Given the description of an element on the screen output the (x, y) to click on. 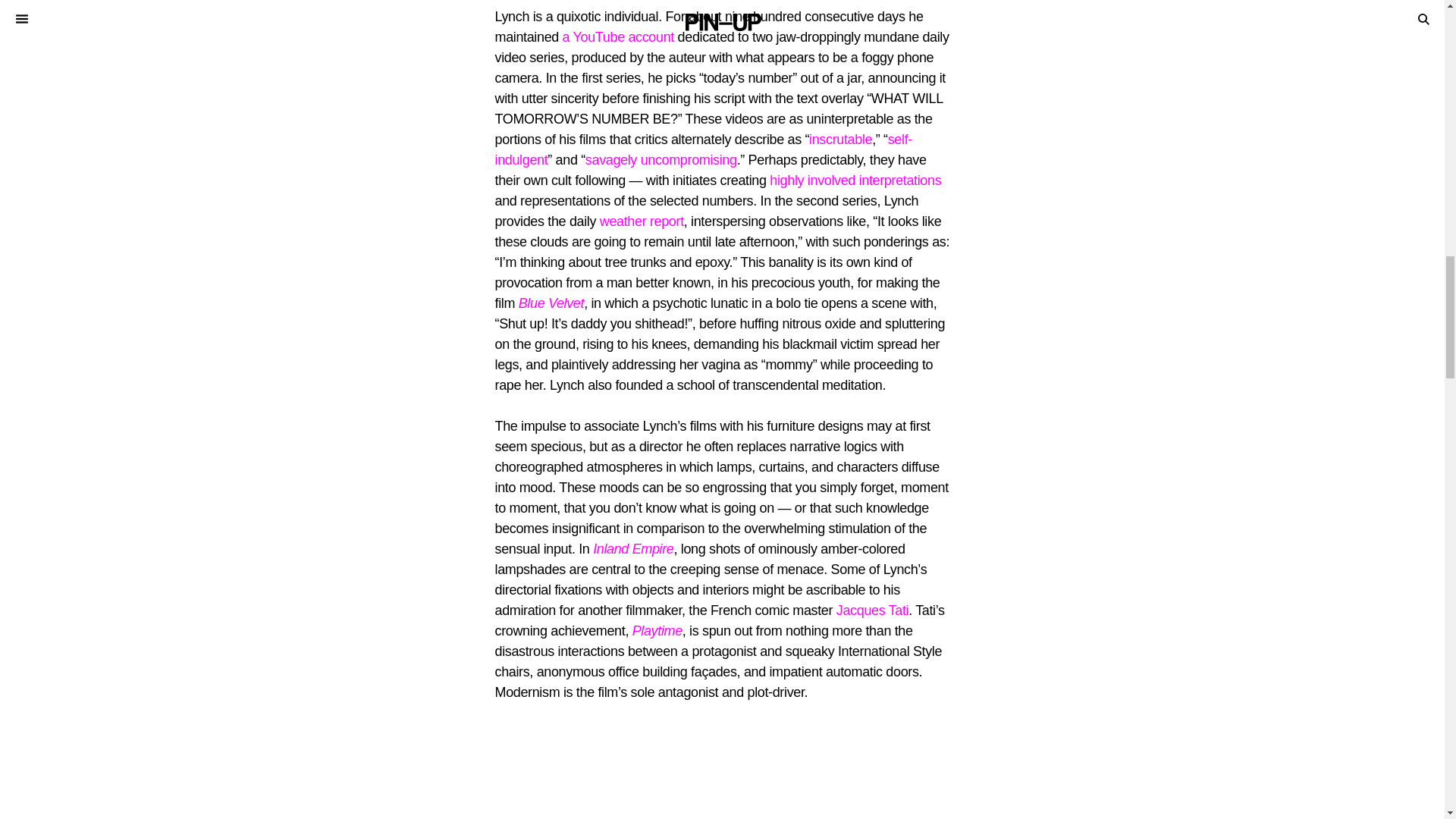
Inland Empire (632, 548)
savagely uncompromising (660, 159)
weather report (641, 221)
a YouTube account (618, 37)
Jacques Tati (871, 610)
Playtime (656, 630)
self-indulgent (703, 149)
Blue Velvet (550, 303)
inscrutable (840, 139)
highly involved interpretations (855, 180)
